Given the description of an element on the screen output the (x, y) to click on. 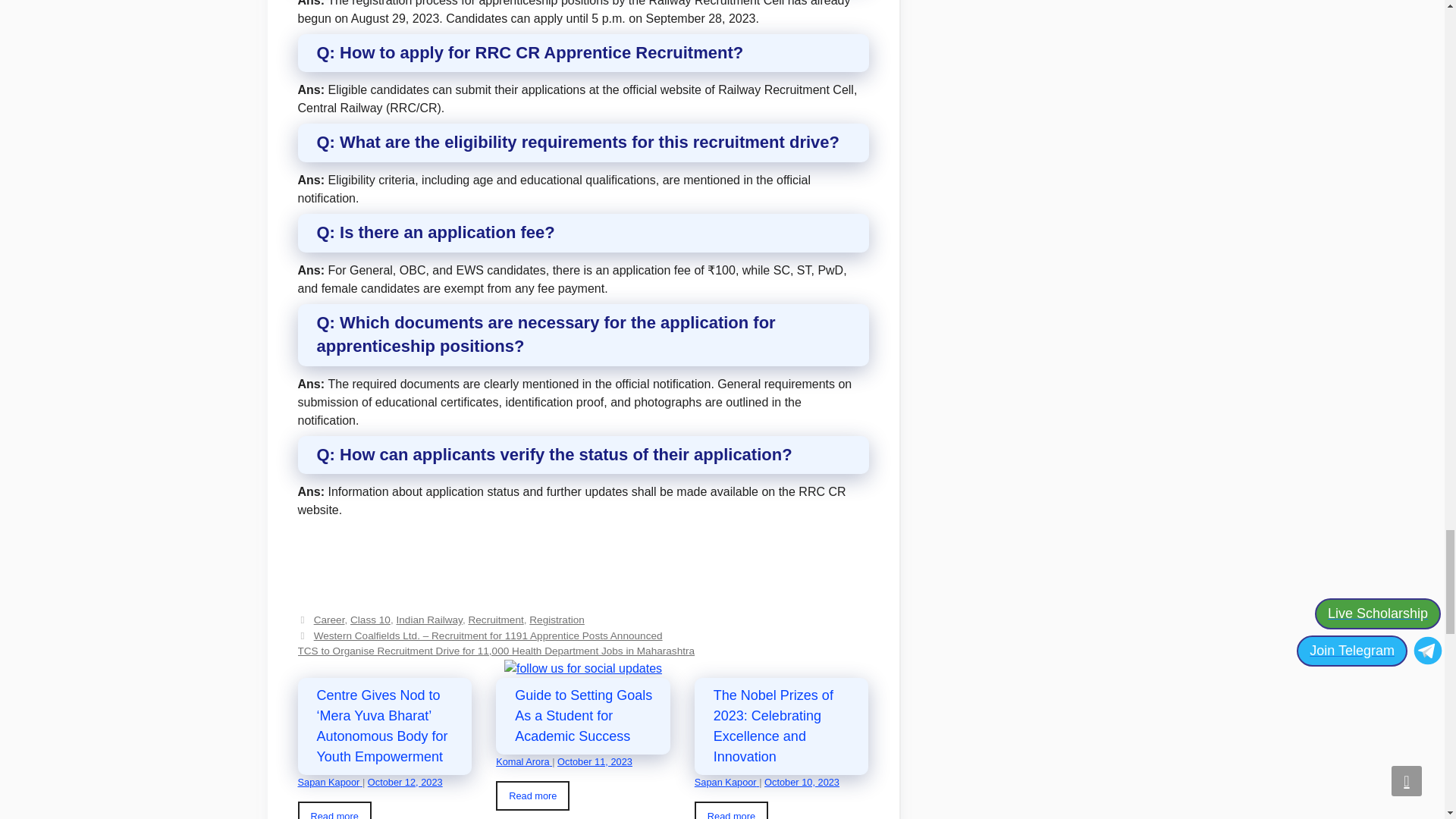
View all posts by Komal Arora (523, 760)
like Buddy4Study on Facebook (582, 669)
3:41 PM (594, 760)
6:53 PM (405, 781)
View all posts by Sapan Kapoor (329, 781)
